Given the description of an element on the screen output the (x, y) to click on. 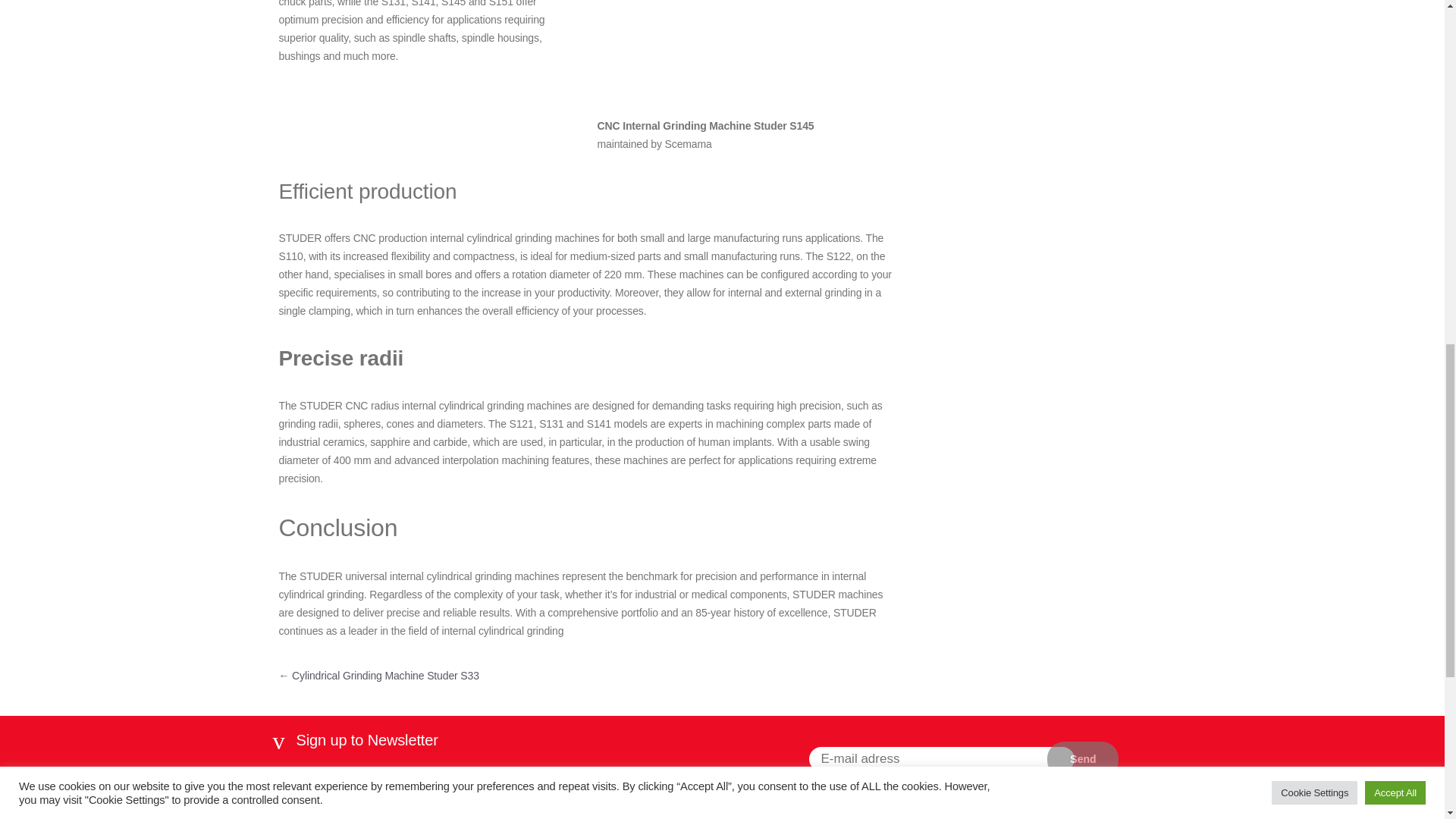
Send (1082, 759)
